Given the description of an element on the screen output the (x, y) to click on. 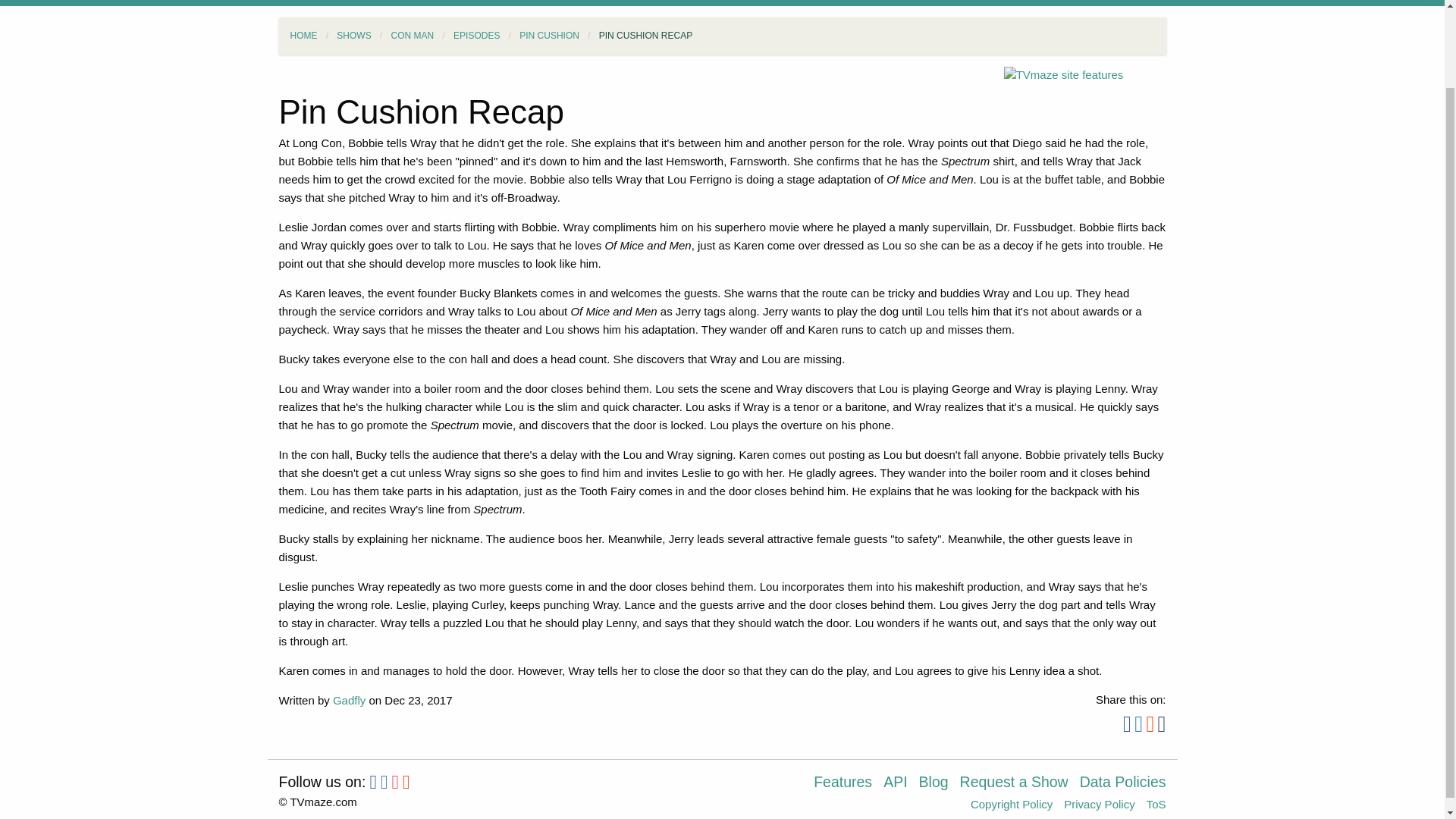
Blog (938, 786)
Features (848, 786)
Request a Show (1019, 786)
API (900, 786)
Articles (592, 2)
CON MAN (412, 35)
Gadfly (349, 699)
EPISODES (475, 35)
People (357, 2)
HOME (303, 35)
Countdown (810, 2)
Web Channels (511, 2)
Data Policies (1123, 786)
Calendar (732, 2)
